Given the description of an element on the screen output the (x, y) to click on. 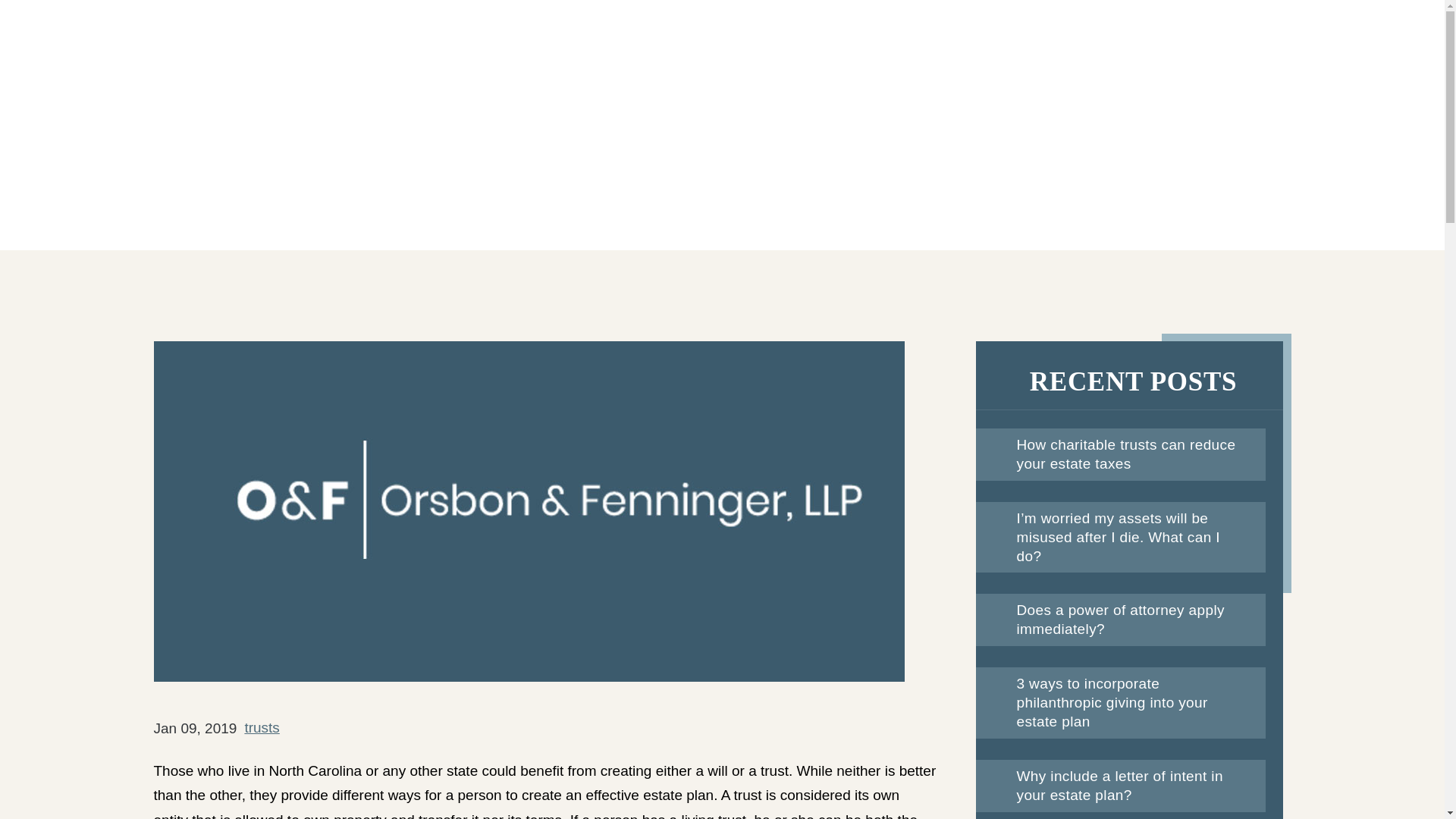
Contact (1040, 51)
Videos (926, 51)
About (538, 51)
Journal (814, 51)
Practice Areas (673, 51)
704-556-9600 (1281, 58)
